Given the description of an element on the screen output the (x, y) to click on. 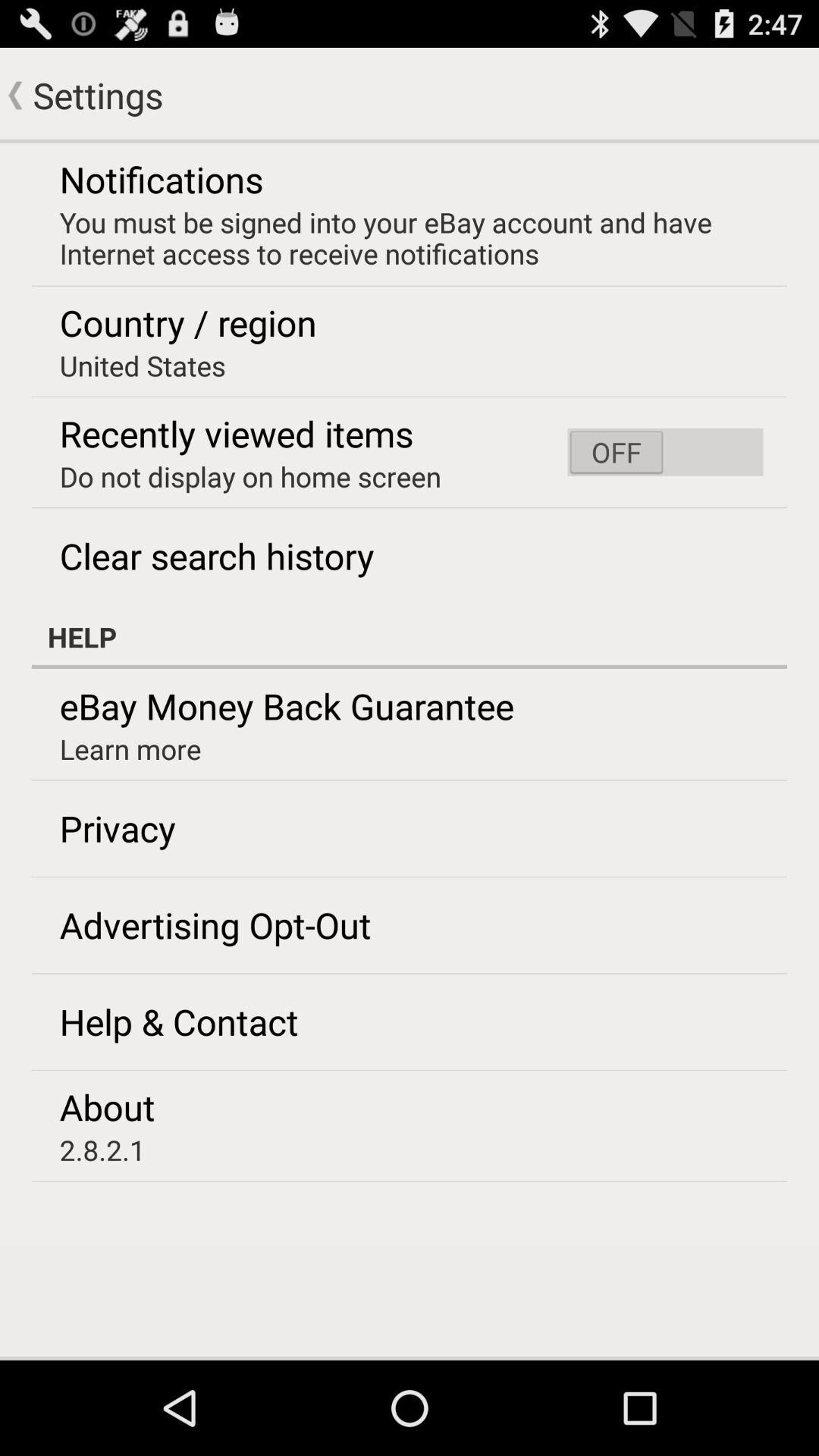
turn on the icon below country / region app (142, 365)
